Given the description of an element on the screen output the (x, y) to click on. 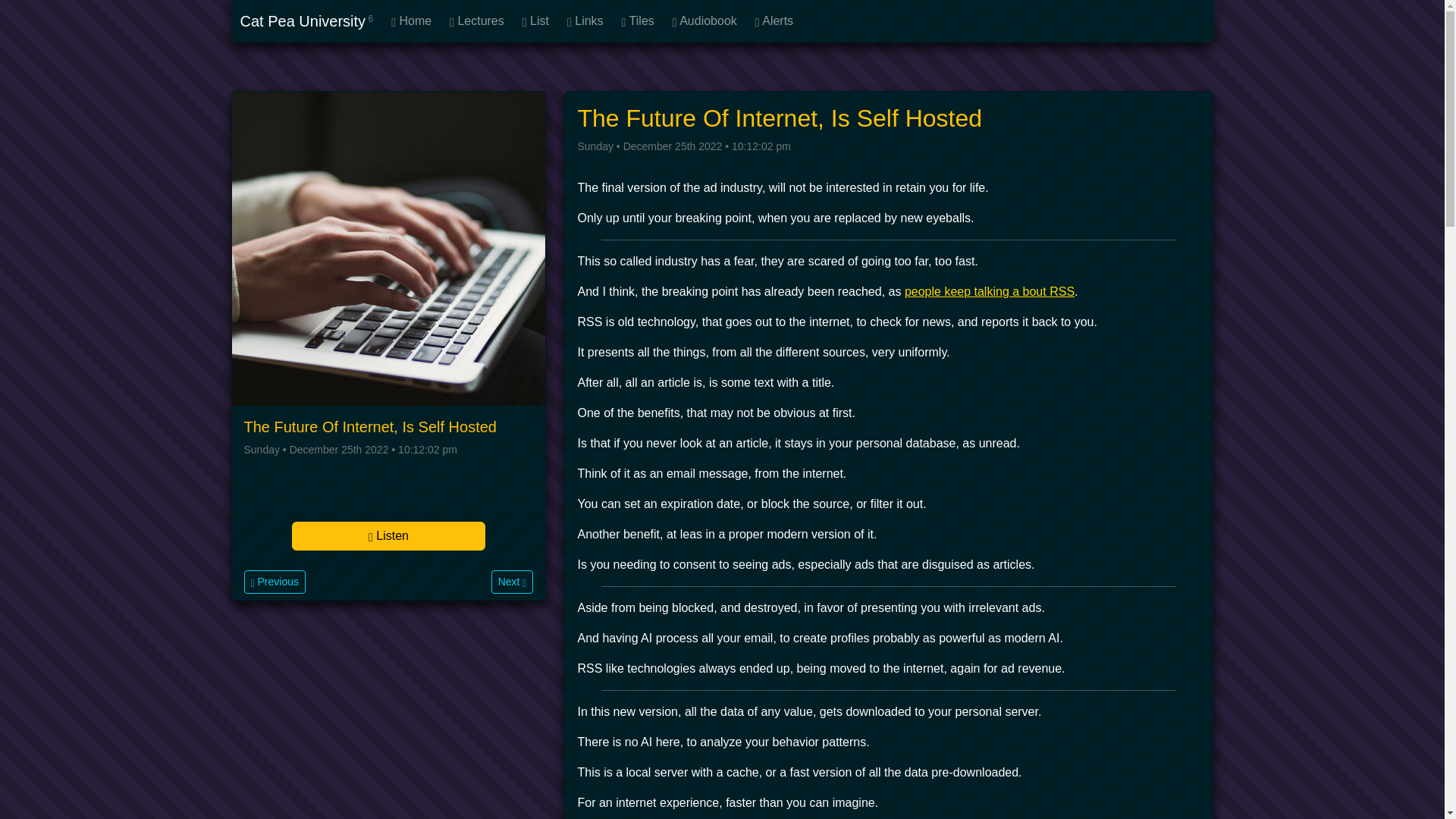
Cat Pea University 6 (306, 20)
Links (585, 20)
people keep talking a bout RSS (989, 291)
Tiles (638, 20)
Lectures (477, 20)
Audiobook (704, 20)
List (535, 20)
Home (411, 20)
Alerts (774, 20)
Previous (274, 581)
